Given the description of an element on the screen output the (x, y) to click on. 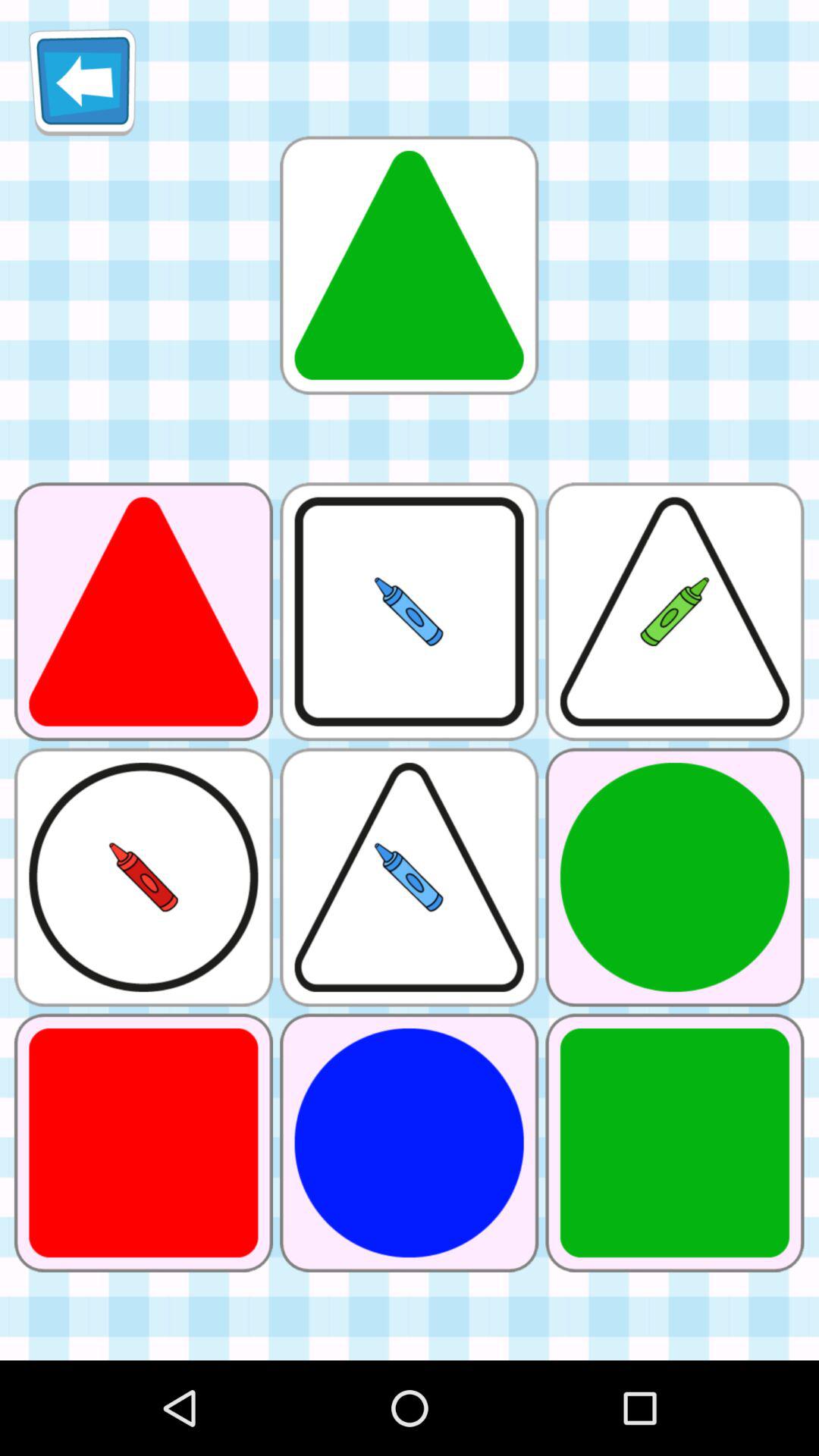
turn off icon at the top left corner (82, 82)
